Given the description of an element on the screen output the (x, y) to click on. 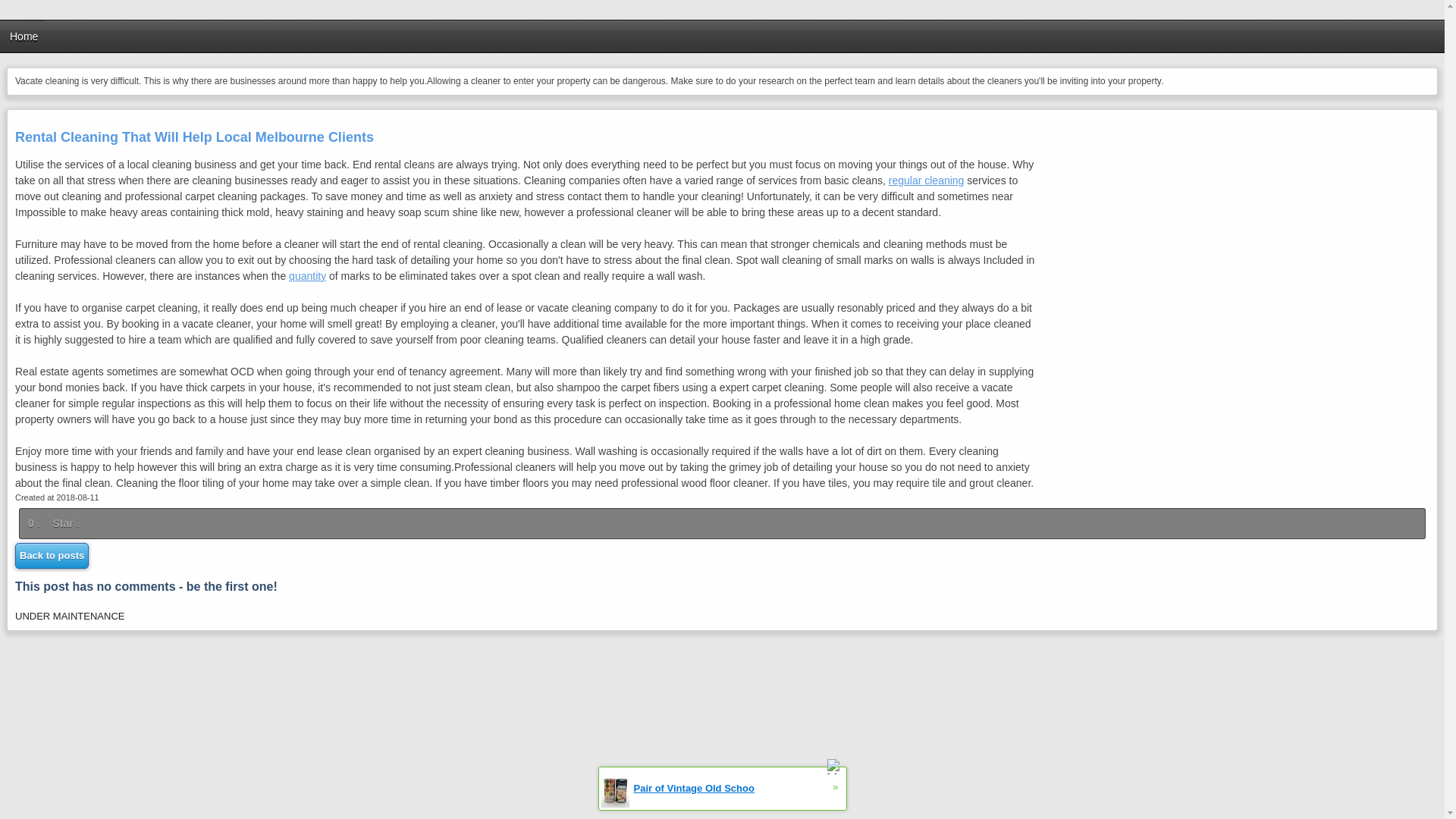
quantity (307, 275)
Home (23, 36)
regular cleaning (925, 180)
Star (65, 523)
Back to posts (51, 555)
0 (34, 523)
